Given the description of an element on the screen output the (x, y) to click on. 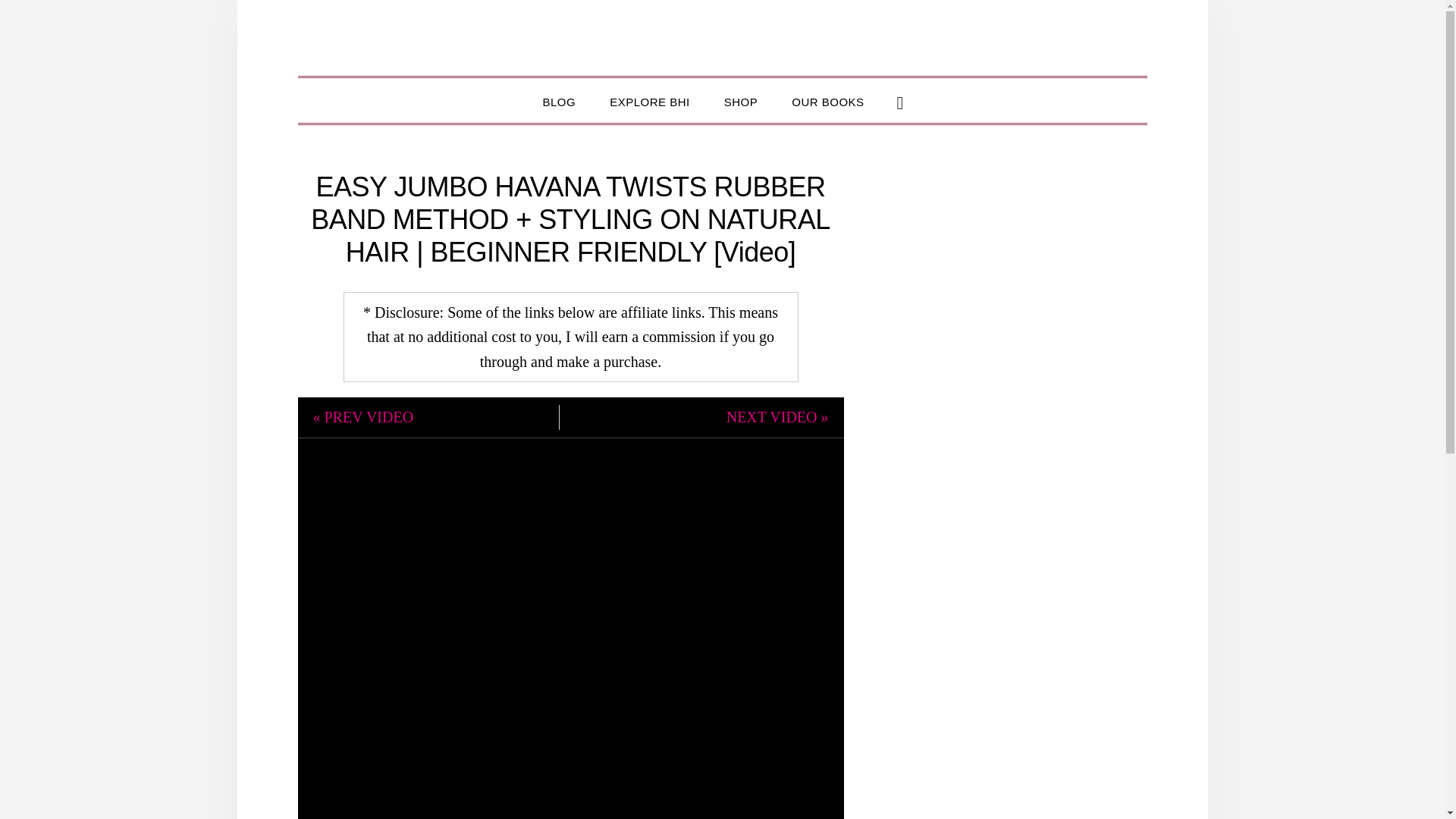
BLACK HAIR INFORMATION (721, 37)
SHOP (741, 99)
EXPLORE BHI (649, 99)
BLOG (559, 99)
